Given the description of an element on the screen output the (x, y) to click on. 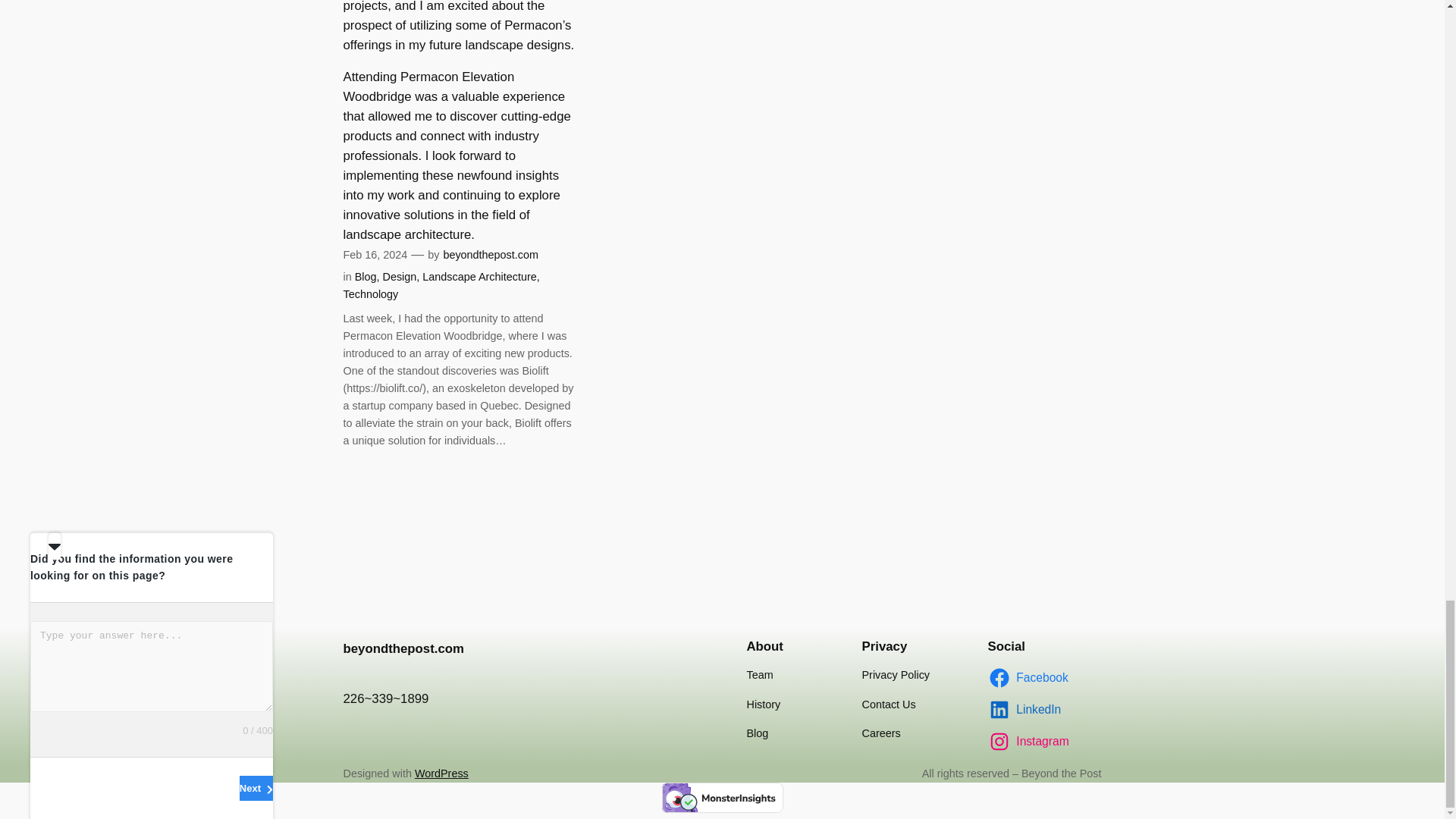
Landscape Architecture (478, 276)
Contact Us (888, 704)
Careers (880, 733)
beyondthepost.com (402, 648)
Blog (366, 276)
Privacy Policy (895, 674)
Blog (756, 733)
Design (399, 276)
Feb 16, 2024 (374, 254)
Verified by MonsterInsights (722, 797)
Technology (369, 294)
Team (759, 674)
beyondthepost.com (490, 254)
History (762, 704)
